Given the description of an element on the screen output the (x, y) to click on. 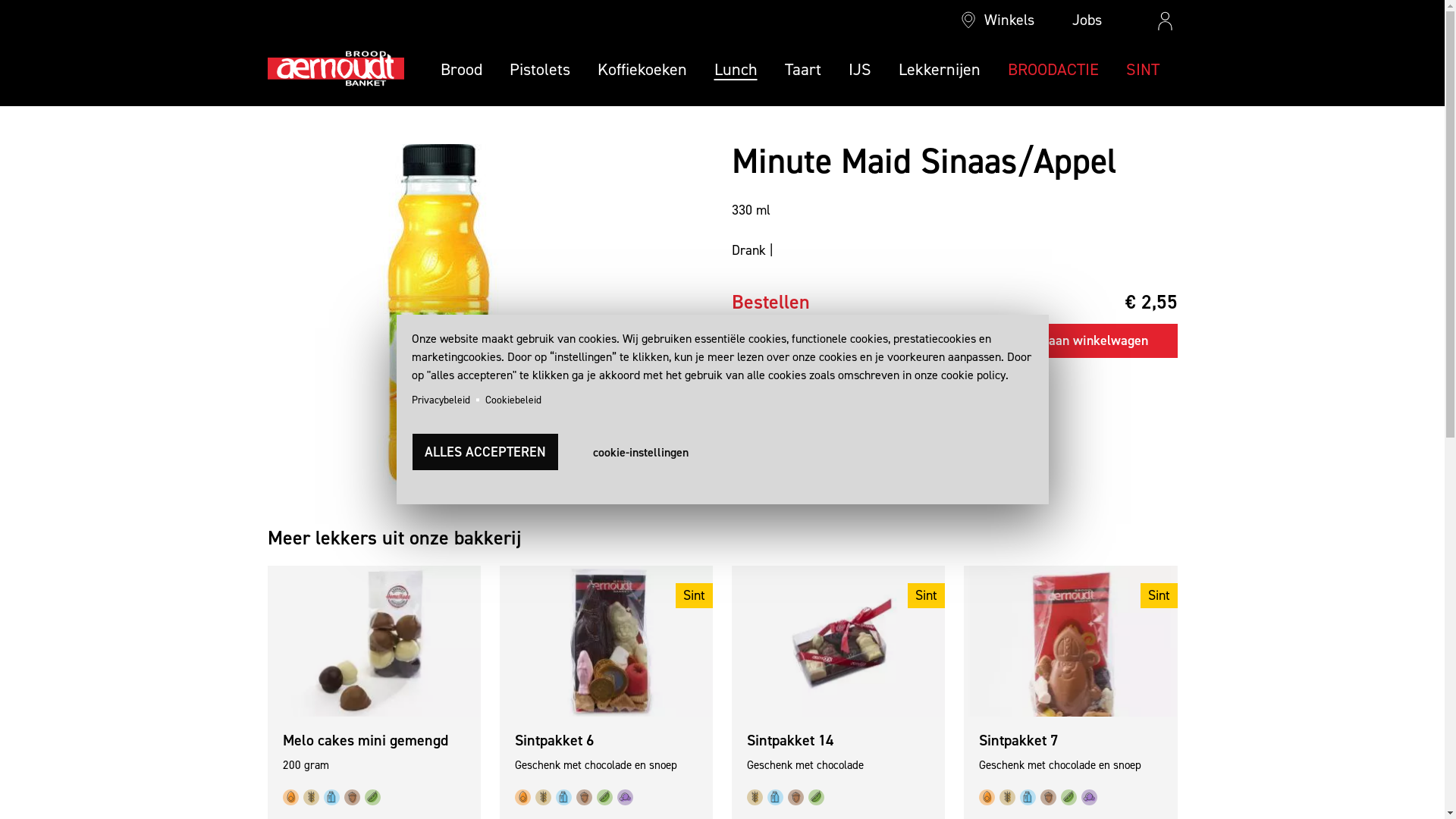
SINT Element type: text (1141, 69)
Image Element type: text (373, 640)
Lunch Element type: text (735, 69)
Taart Element type: text (802, 69)
Jobs Element type: text (1075, 19)
Toevoegen aan winkelwagen Element type: text (1075, 340)
Sint
Image Element type: text (1069, 640)
Inloggen Element type: text (1407, 248)
Overslaan en naar de inhoud gaan Element type: text (0, 106)
Sint
Image Element type: text (605, 640)
Privacybeleid Element type: text (440, 399)
Koffiekoeken Element type: text (642, 69)
Brood Element type: text (460, 69)
ALLES ACCEPTEREN Element type: text (485, 451)
Lekkernijen Element type: text (938, 69)
Sint
Image Element type: text (837, 640)
Cookiebeleid Element type: text (513, 399)
Winkels Element type: text (997, 19)
cookie-instellingen Element type: text (640, 452)
IJS Element type: text (858, 69)
BROODACTIE Element type: text (1052, 69)
Pistolets Element type: text (539, 69)
